Given the description of an element on the screen output the (x, y) to click on. 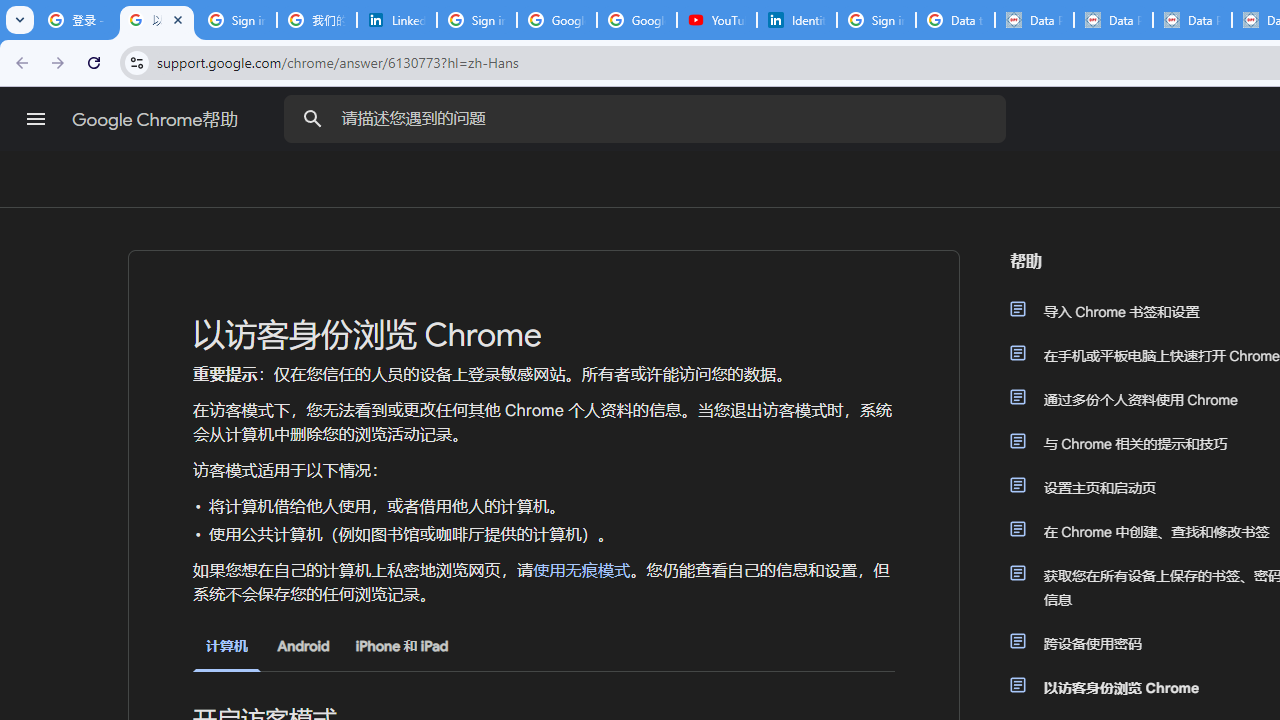
Data Privacy Framework (1192, 20)
Sign in - Google Accounts (236, 20)
Data Privacy Framework (1033, 20)
Sign in - Google Accounts (876, 20)
Data Privacy Framework (1113, 20)
